Given the description of an element on the screen output the (x, y) to click on. 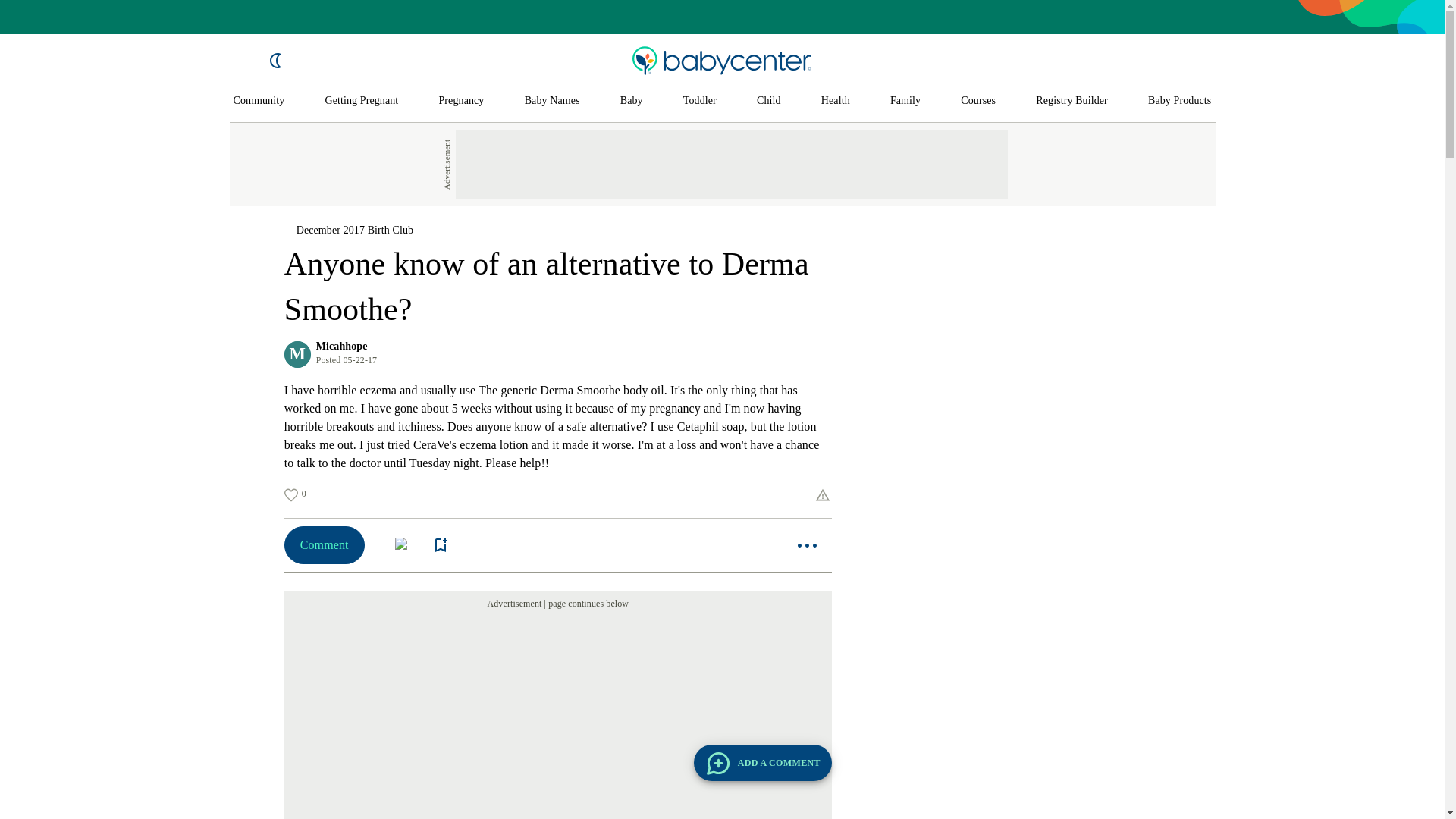
Community (258, 101)
Baby (631, 101)
Baby Names (551, 101)
Courses (977, 101)
Family (904, 101)
Getting Pregnant (360, 101)
Toddler (699, 101)
Health (835, 101)
Registry Builder (1071, 101)
Child (768, 101)
Baby Products (1179, 101)
Pregnancy (460, 101)
